Given the description of an element on the screen output the (x, y) to click on. 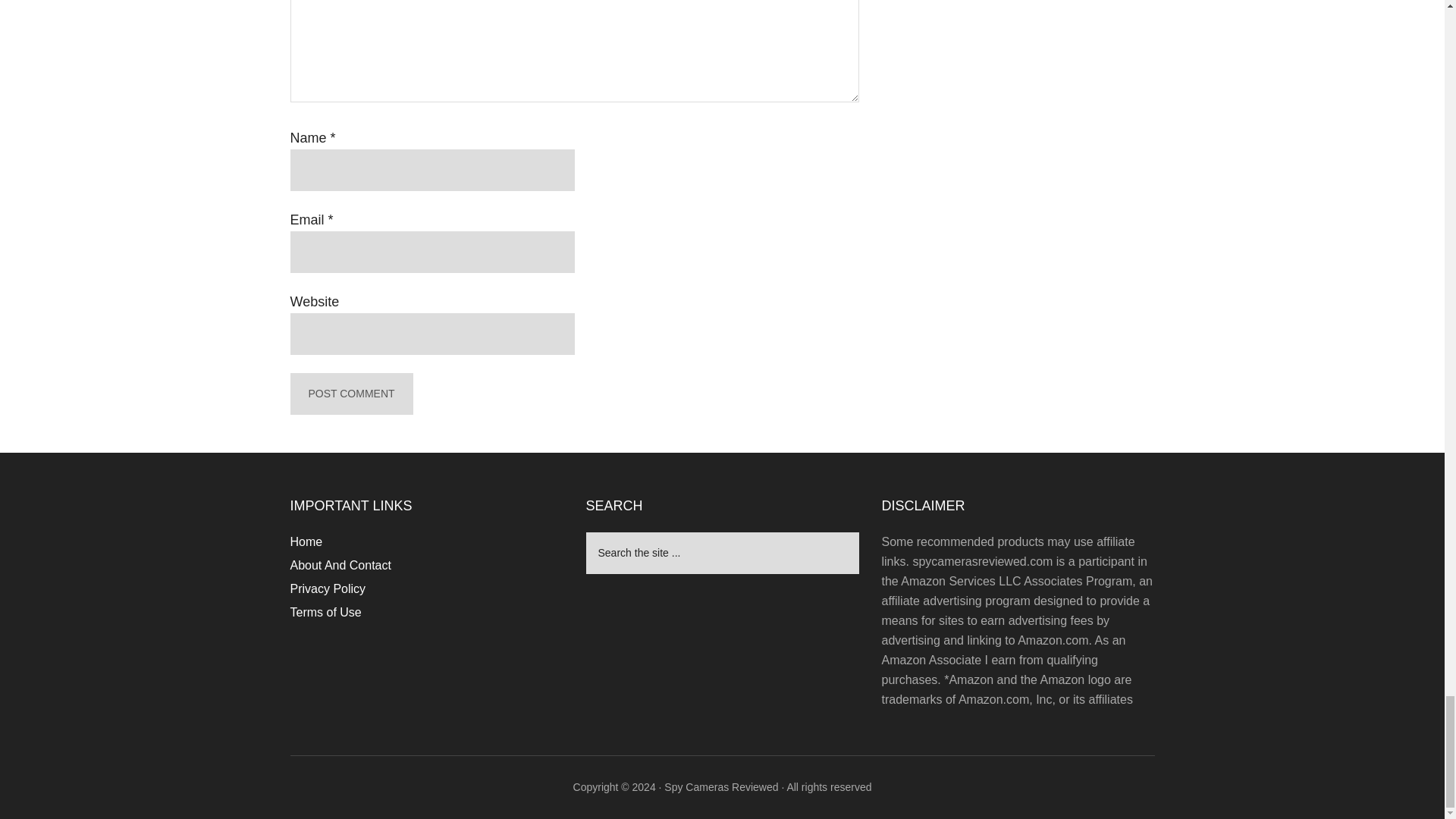
Post Comment (350, 393)
